Given the description of an element on the screen output the (x, y) to click on. 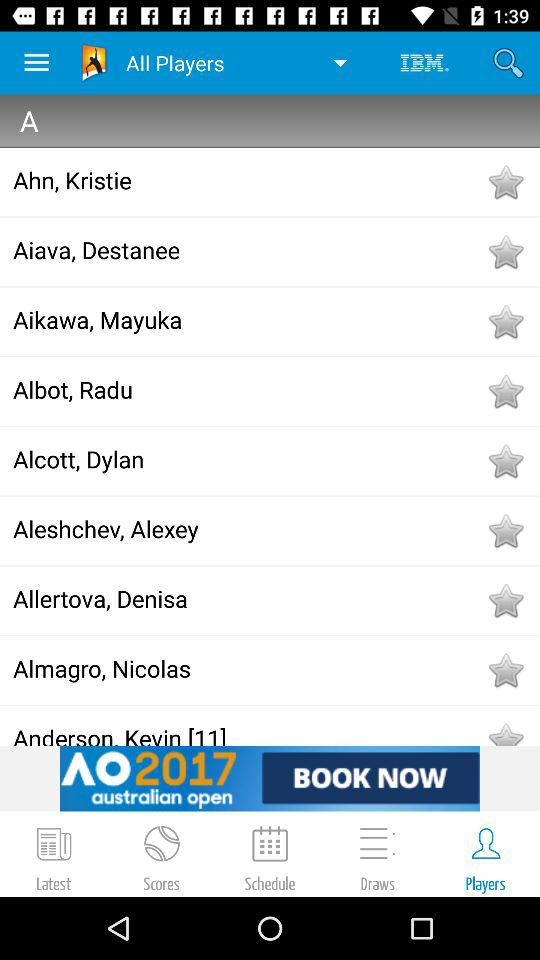
favorite option (505, 600)
